Given the description of an element on the screen output the (x, y) to click on. 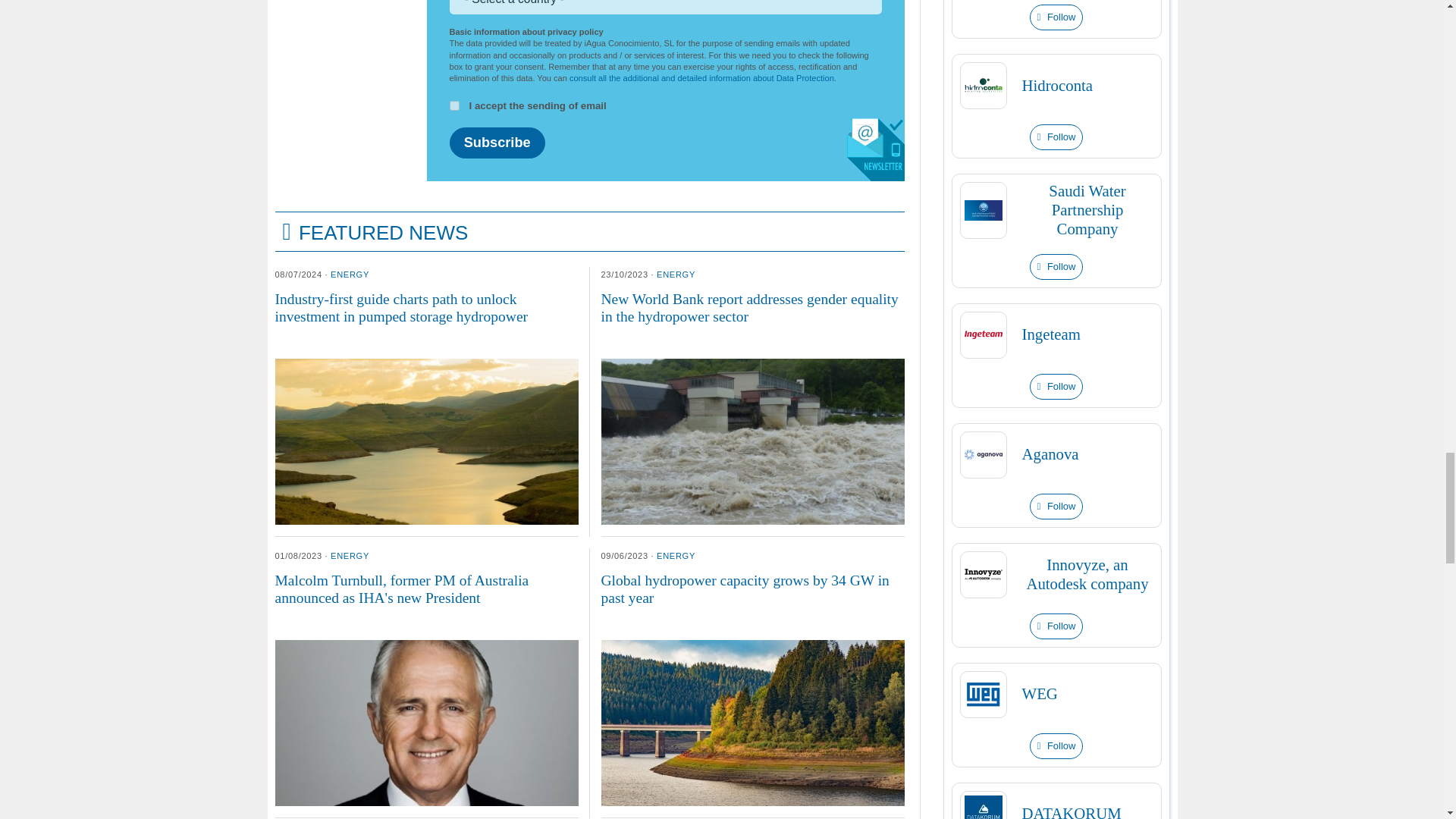
View more articles of Energy (349, 274)
Y (453, 105)
Subscribe (496, 142)
